Given the description of an element on the screen output the (x, y) to click on. 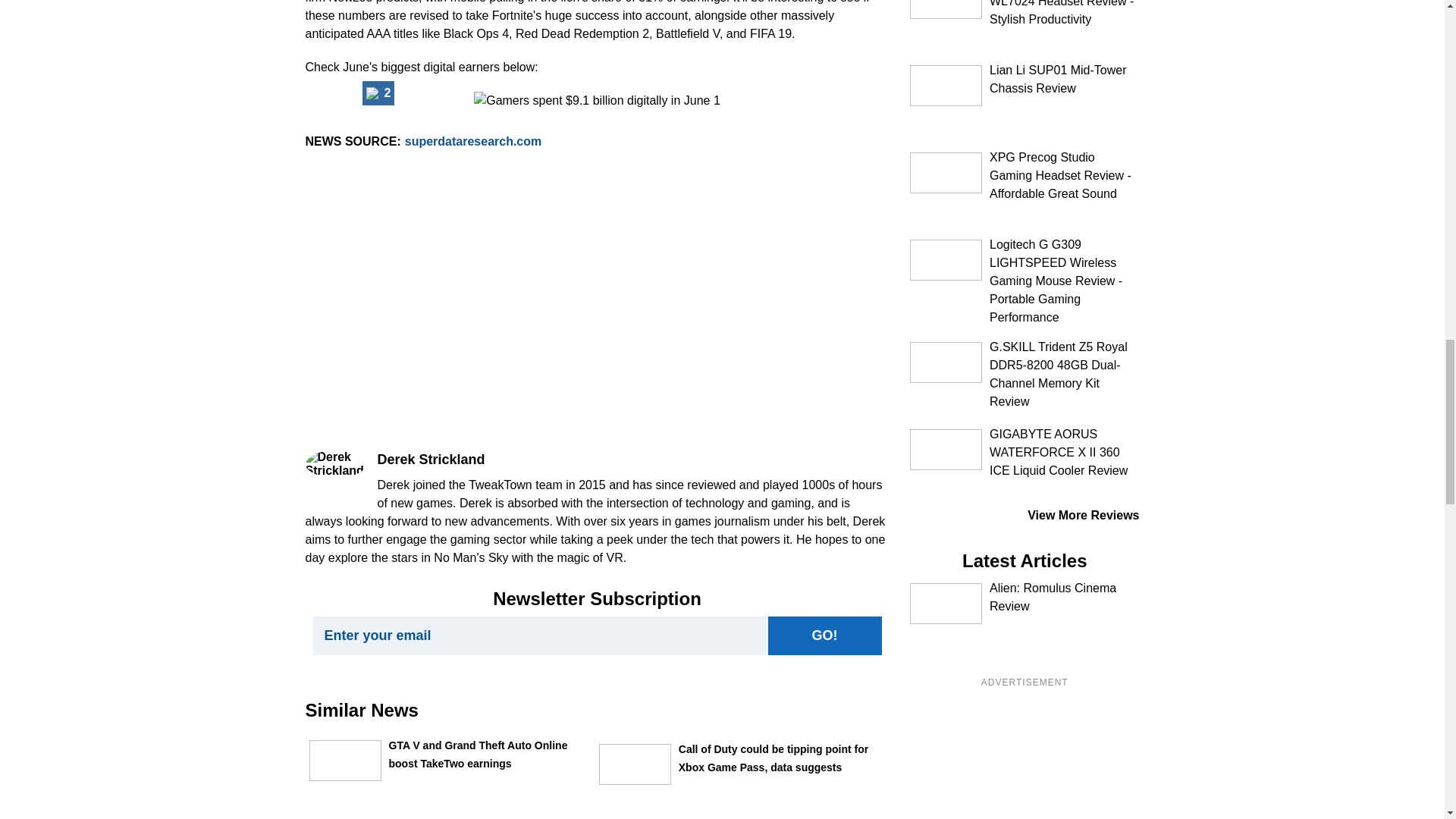
Open Gallery (378, 93)
Submit your email address (823, 635)
GO! (823, 635)
Enter your email (540, 635)
Derek Strickland (334, 463)
GTA V and Grand Theft Auto Online boost TakeTwo earnings (344, 760)
